Given the description of an element on the screen output the (x, y) to click on. 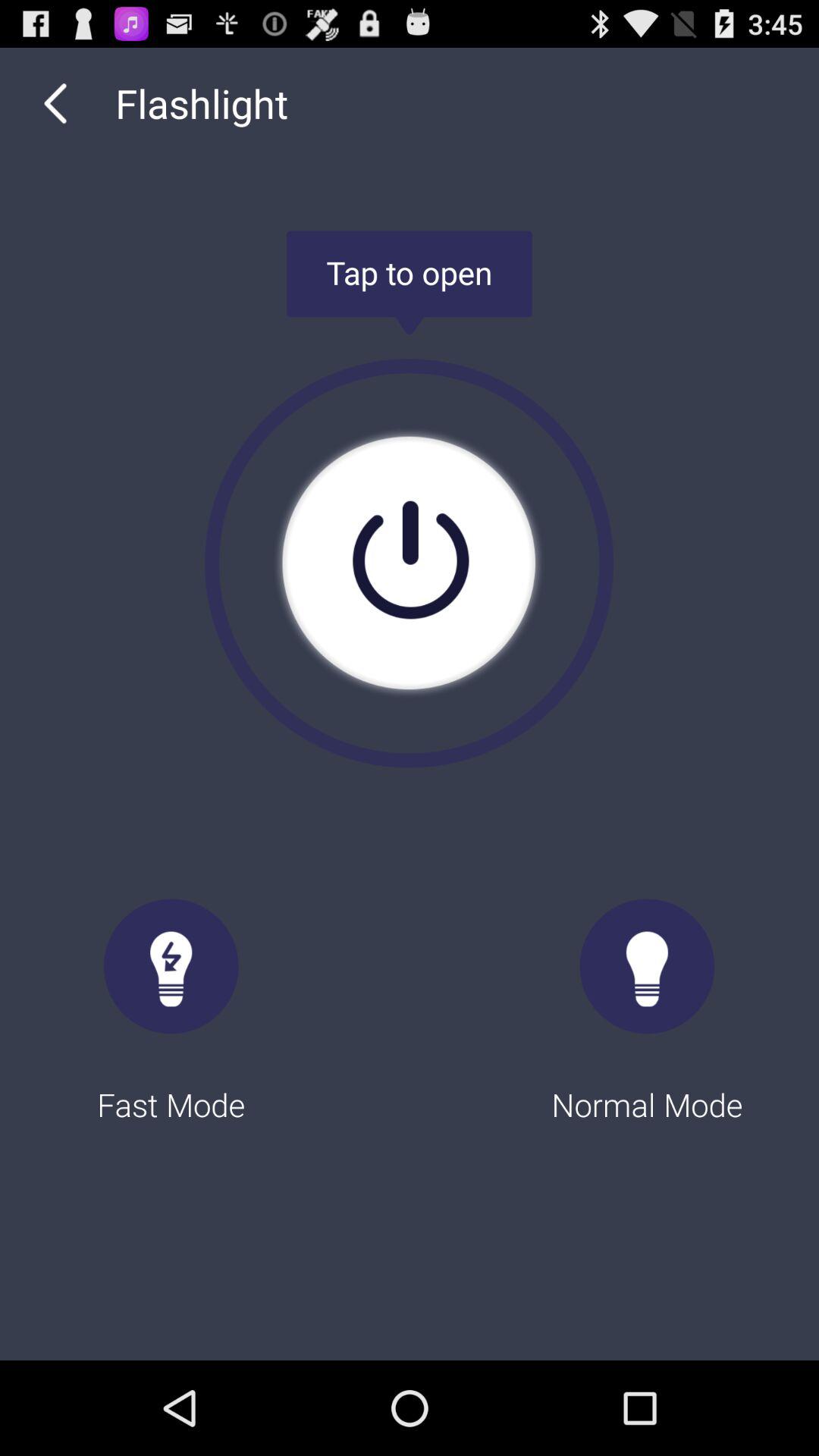
turn off the normal mode radio button (647, 996)
